Given the description of an element on the screen output the (x, y) to click on. 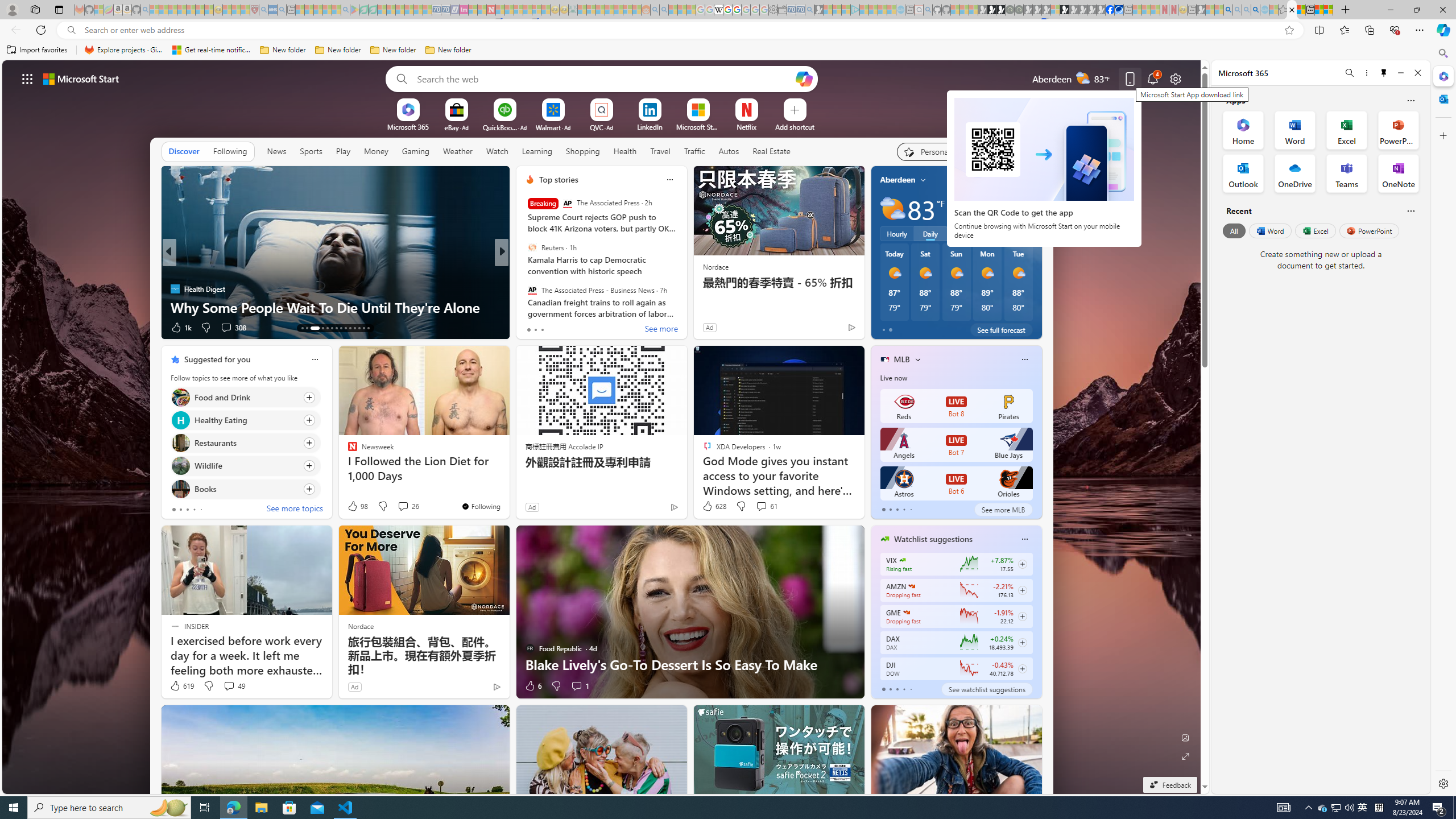
AMAZON.COM, INC. (911, 586)
AutomationID: tab-18 (331, 328)
Books (180, 488)
See full forecast (1000, 329)
LinkedIn (649, 126)
45 Like (530, 327)
73 Like (530, 327)
